Given the description of an element on the screen output the (x, y) to click on. 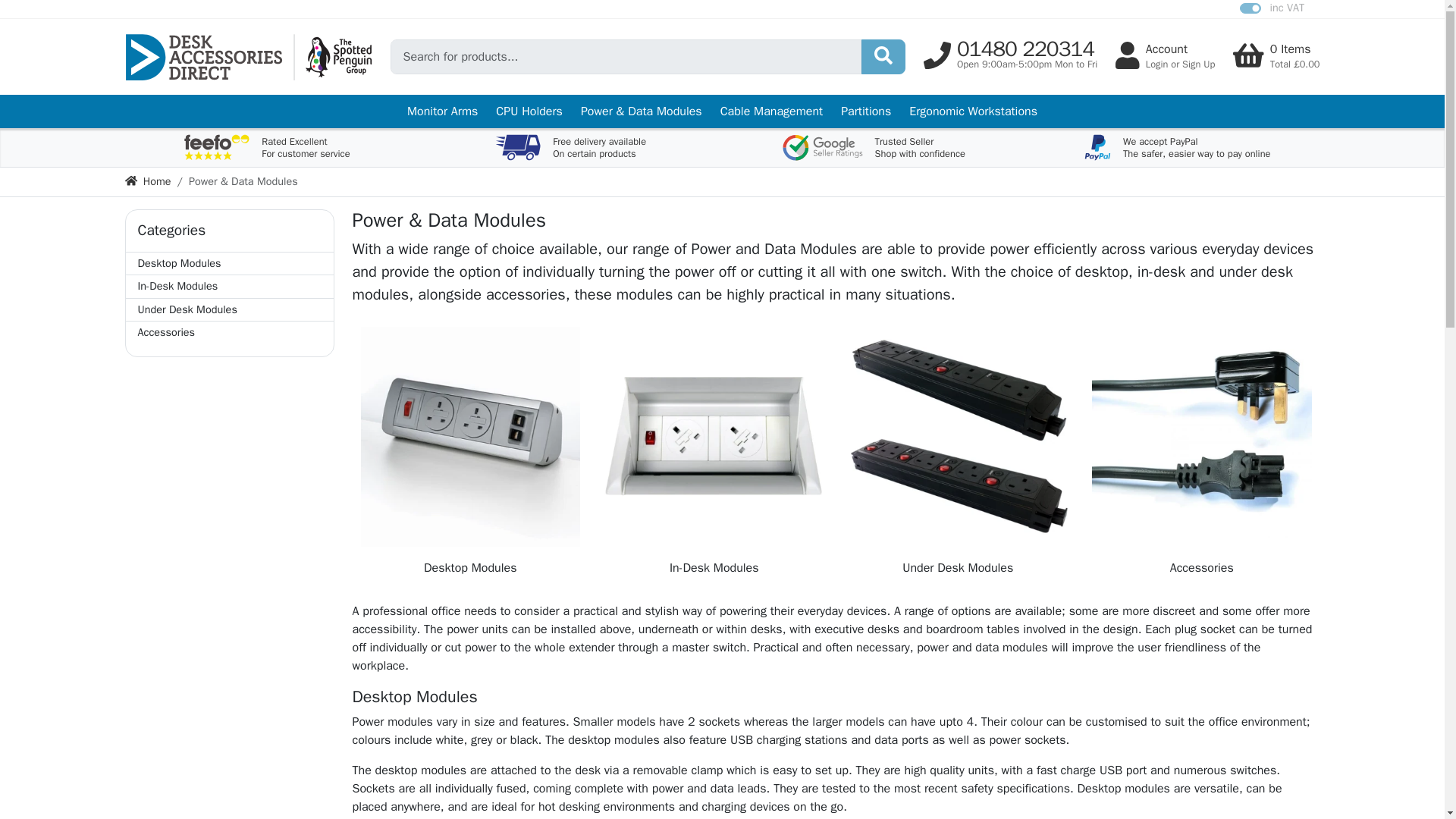
Partitions (1176, 147)
Cable Management (865, 111)
Desktop Modules (771, 111)
Desk Accessories Direct Feefo Reviews (229, 263)
Monitor Arms (266, 147)
on (441, 111)
Accessories (1249, 8)
Ergonomic Workstations (229, 332)
Cable Management (972, 111)
